Given the description of an element on the screen output the (x, y) to click on. 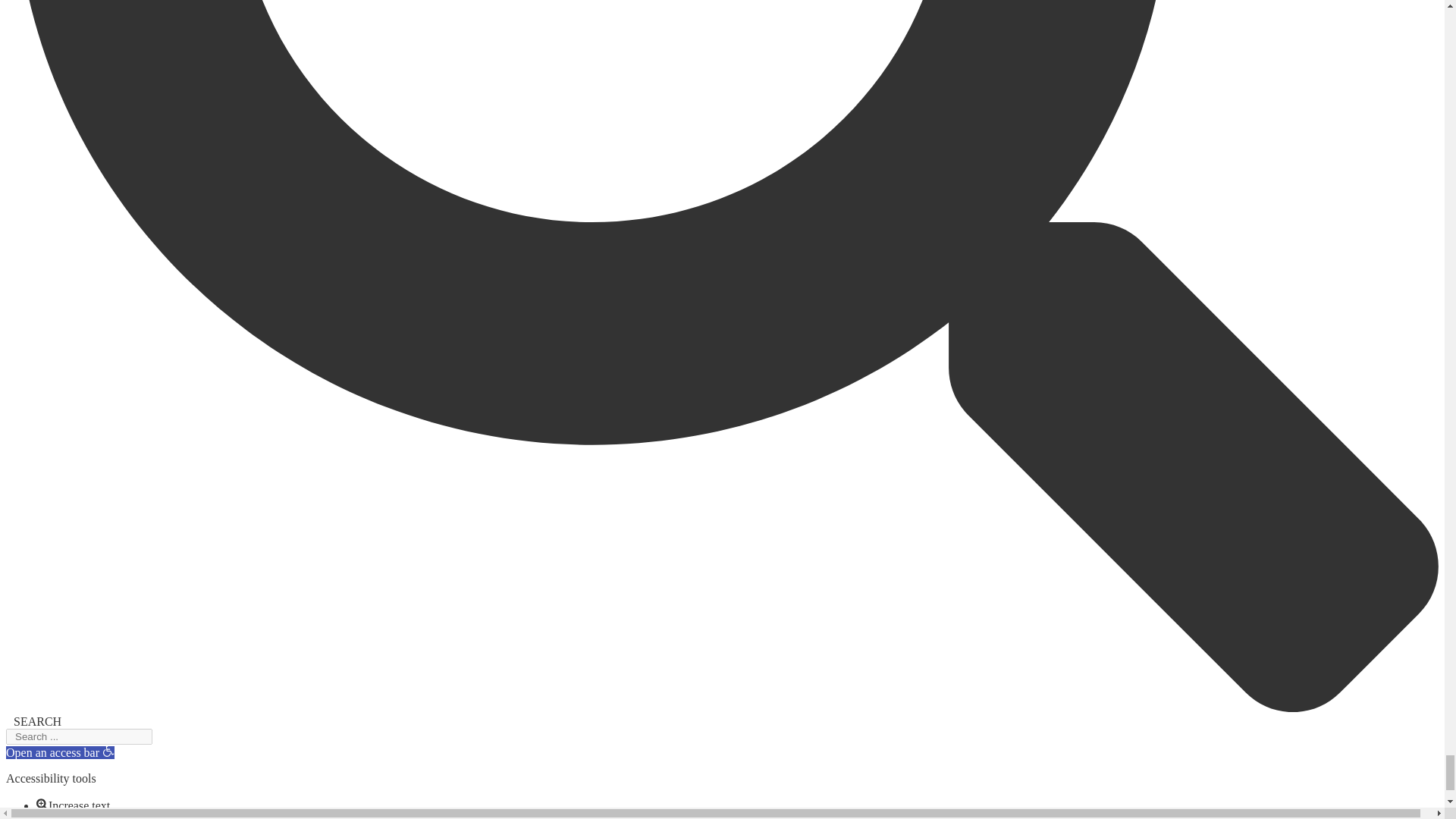
Decrease text (42, 816)
Accessibility tools (108, 750)
Increase text (42, 803)
